Given the description of an element on the screen output the (x, y) to click on. 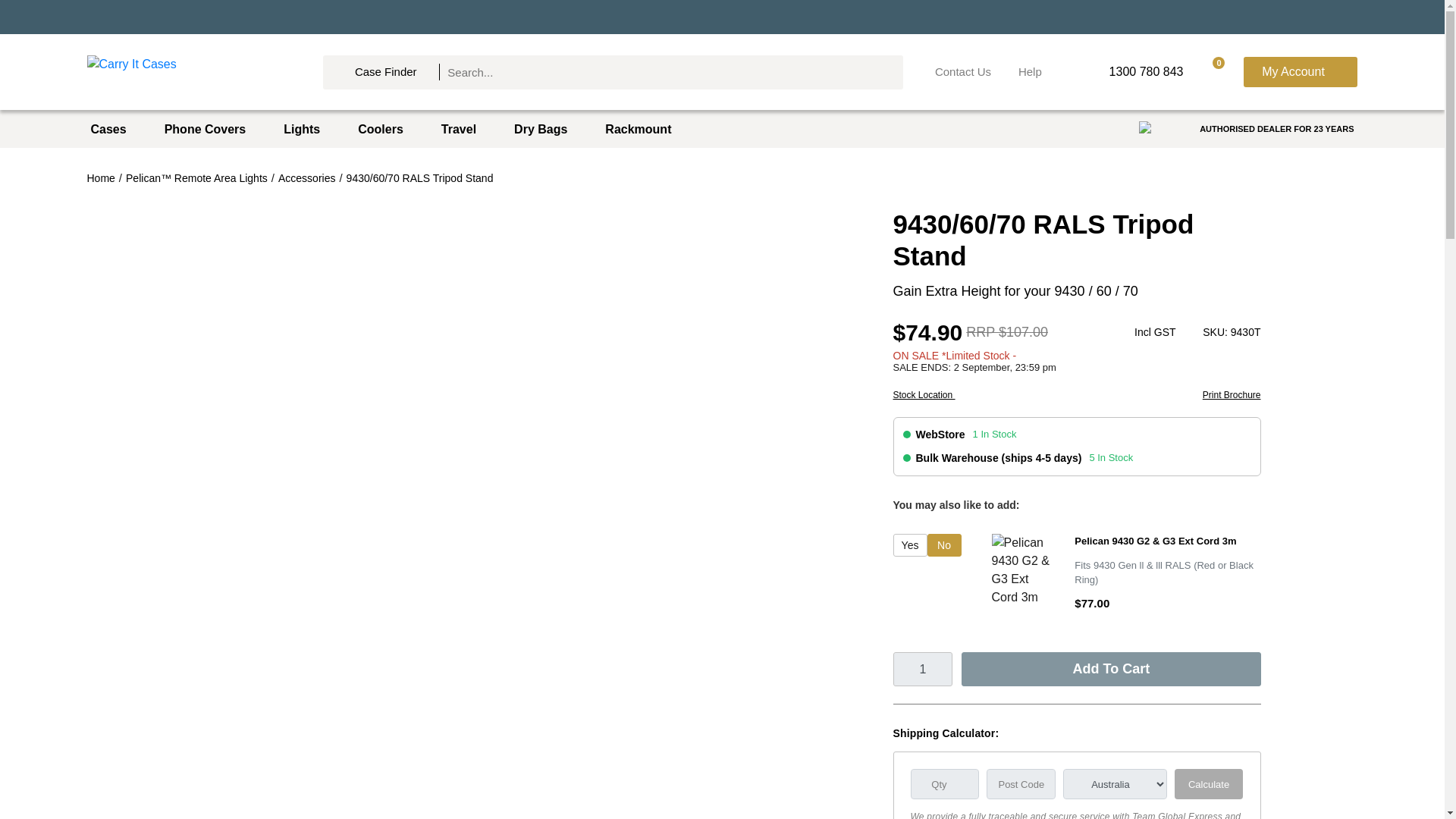
1300 780 843 (1133, 71)
Search (879, 72)
1300 780 843 (1133, 71)
Add to Cart (1110, 668)
1 (923, 668)
Carry It Cases (188, 71)
Contact Us (962, 72)
Calculate (1208, 784)
